Given the description of an element on the screen output the (x, y) to click on. 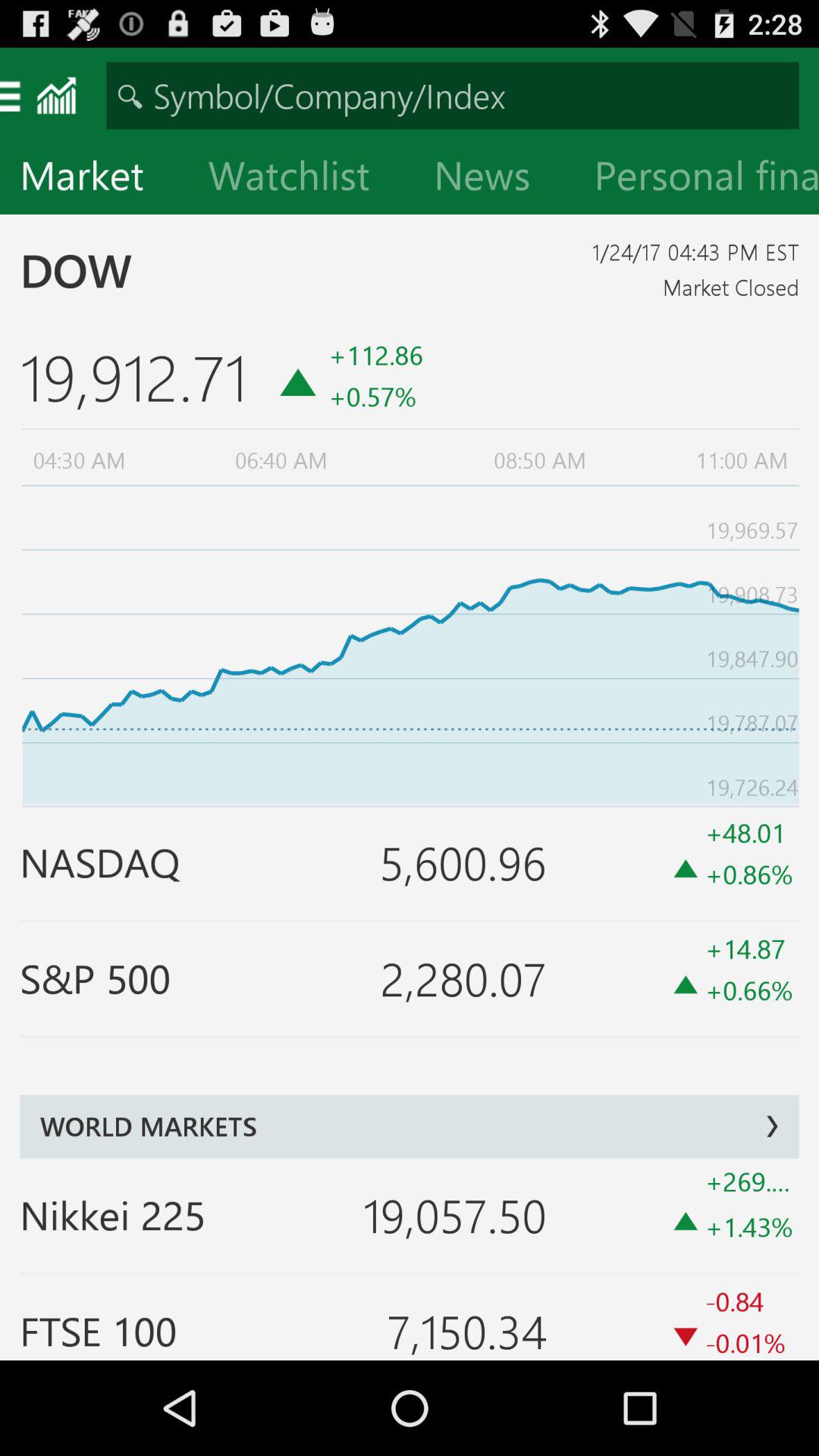
choose item next to the personal finance (494, 178)
